Given the description of an element on the screen output the (x, y) to click on. 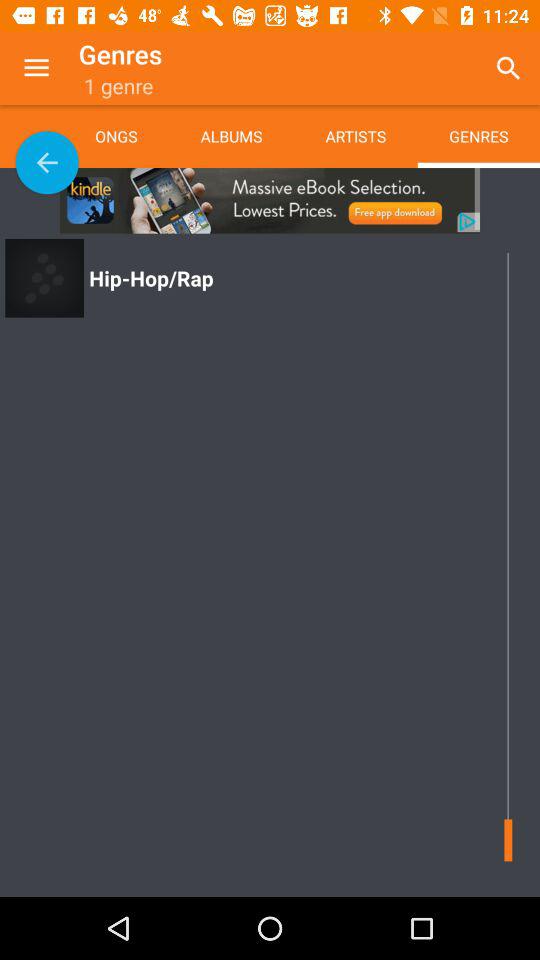
choose the app next to the artists (231, 136)
